Given the description of an element on the screen output the (x, y) to click on. 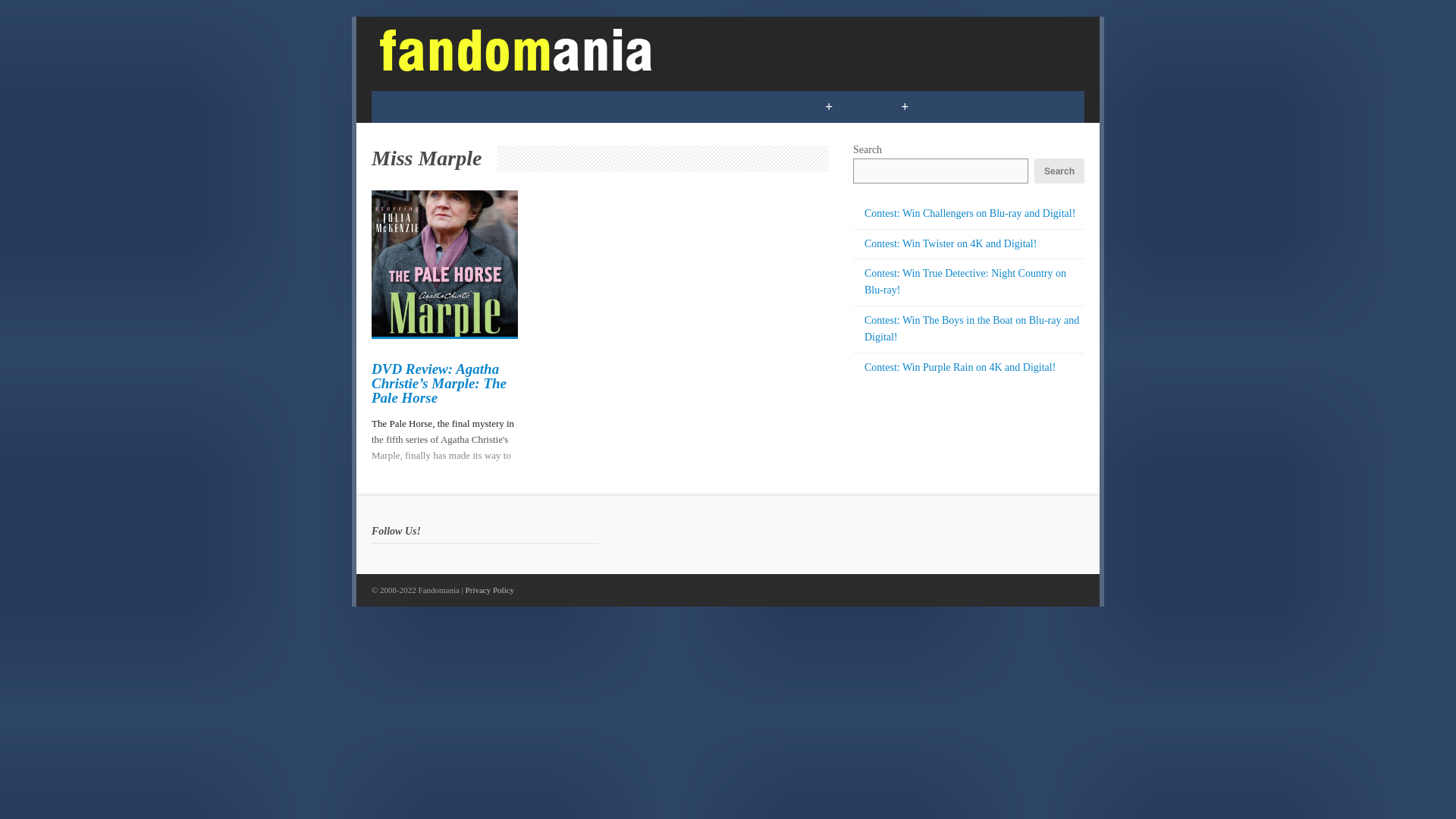
Contest: Win The Boys in the Boat on Blu-ray and Digital! (971, 328)
TV (545, 106)
Contest: Win Challengers on Blu-ray and Digital! (969, 213)
Contest: Win Twister on 4K and Digital! (950, 243)
Contest: Win True Detective: Night Country on Blu-ray! (964, 281)
Search (1058, 170)
Contest: Win Purple Rain on 4K and Digital! (959, 367)
Games (484, 106)
Contests (762, 106)
Music (681, 106)
About (1022, 106)
Movies (608, 106)
Privacy Policy (489, 589)
Comics (409, 106)
